Given the description of an element on the screen output the (x, y) to click on. 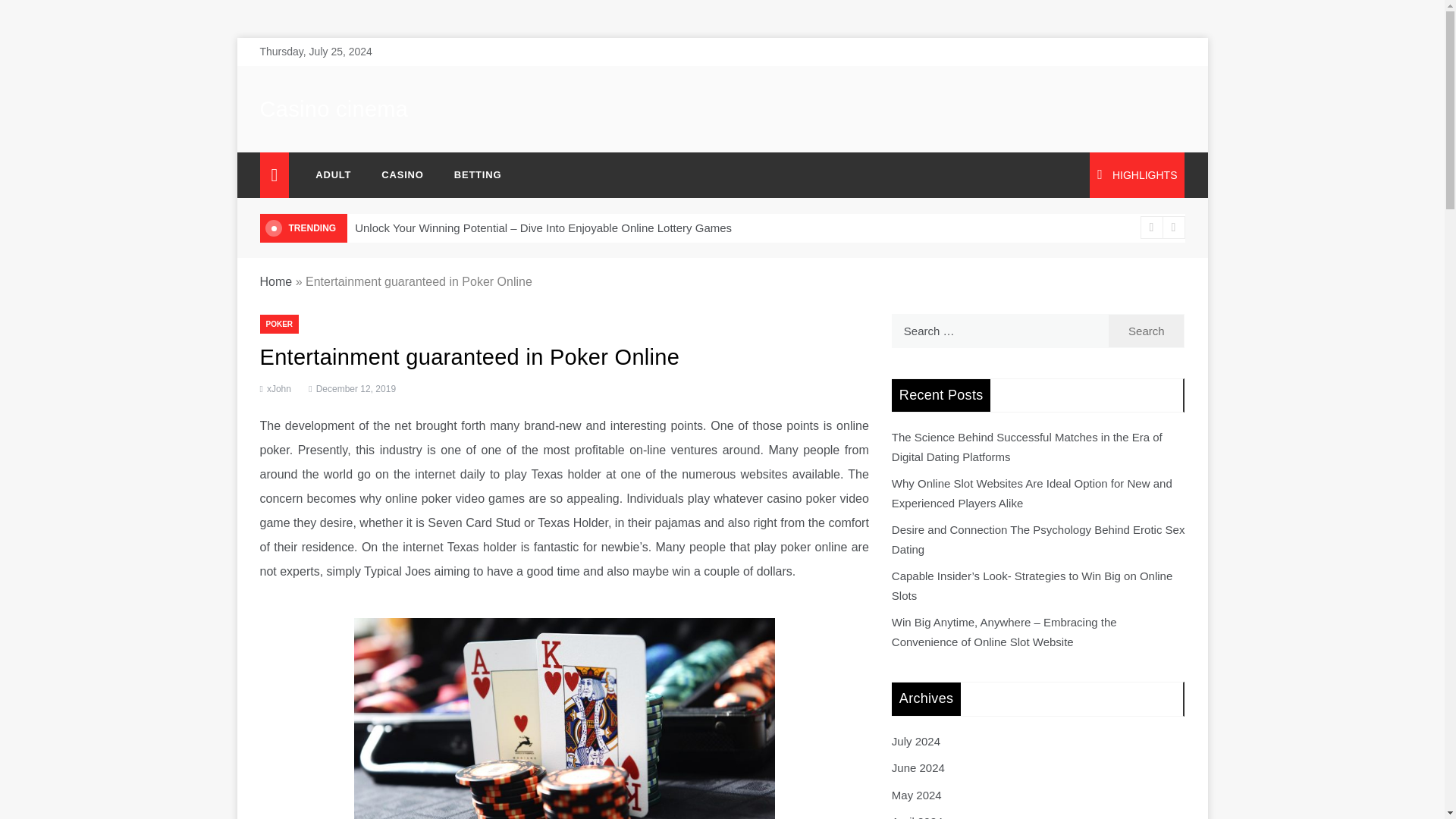
HIGHLIGHTS (1137, 175)
ADULT (332, 175)
Casino cinema (333, 109)
CASINO (402, 175)
BETTING (470, 175)
Search (1146, 330)
Search (1146, 330)
